Given the description of an element on the screen output the (x, y) to click on. 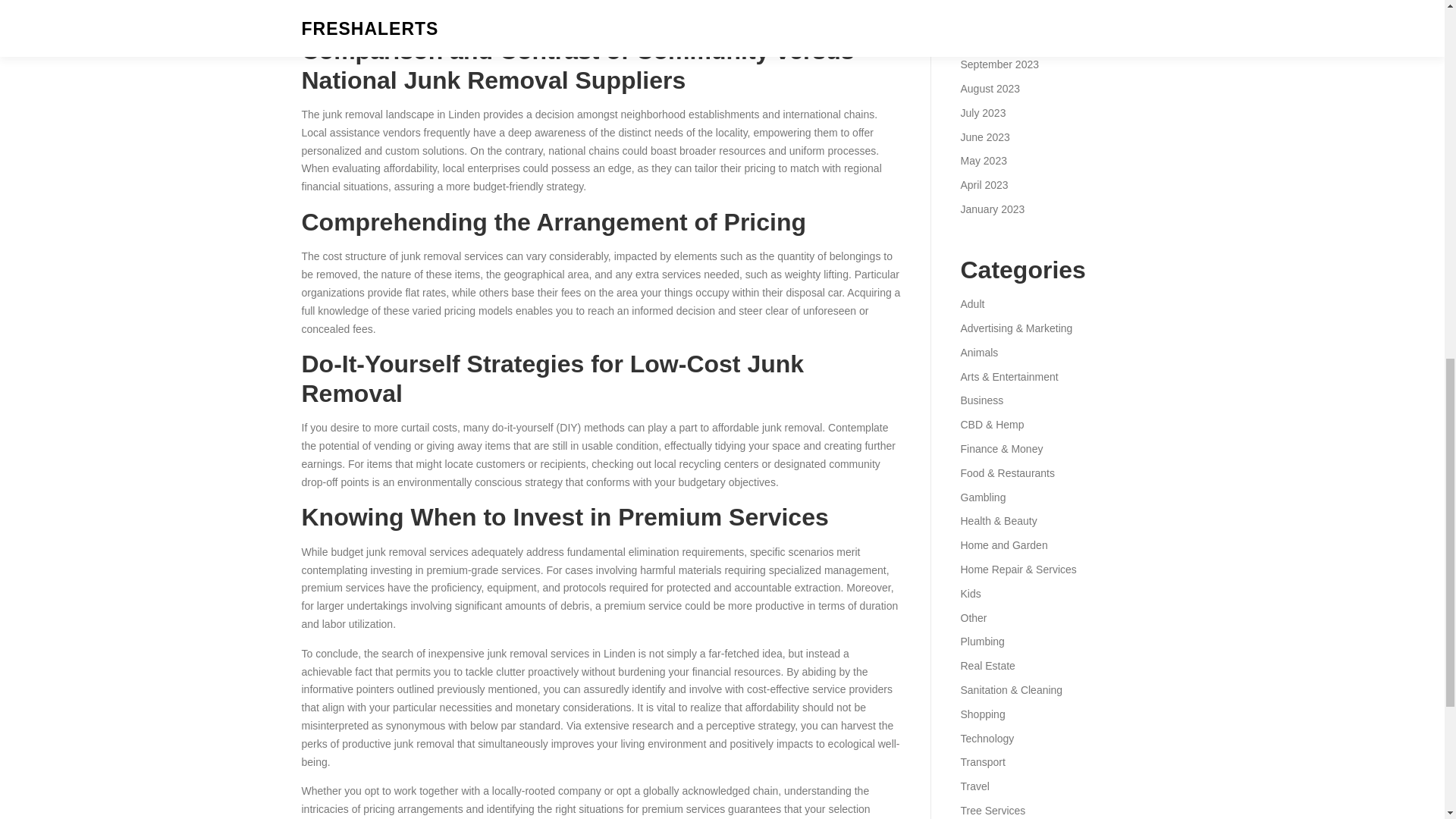
August 2023 (989, 88)
June 2023 (984, 137)
April 2023 (983, 184)
Animals (978, 352)
Business (981, 399)
Adult (971, 304)
May 2023 (982, 160)
September 2023 (999, 64)
October 2023 (992, 39)
July 2023 (982, 112)
January 2023 (992, 209)
November 2023 (997, 16)
